Given the description of an element on the screen output the (x, y) to click on. 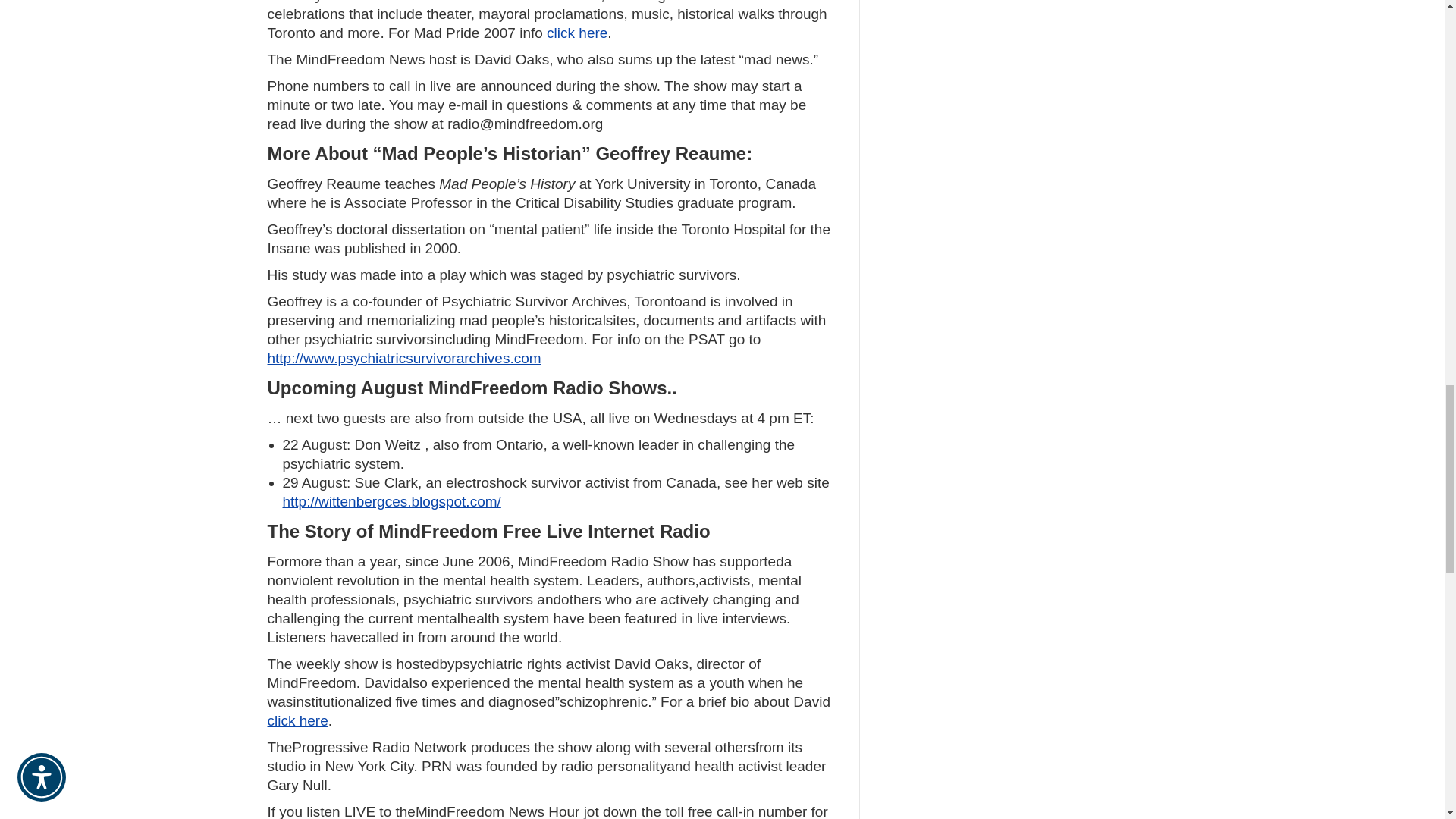
Mad Pride 2007 Events Are Already Starting! (577, 32)
Brief bio of David W. Oaks, MFI Director (296, 720)
